Given the description of an element on the screen output the (x, y) to click on. 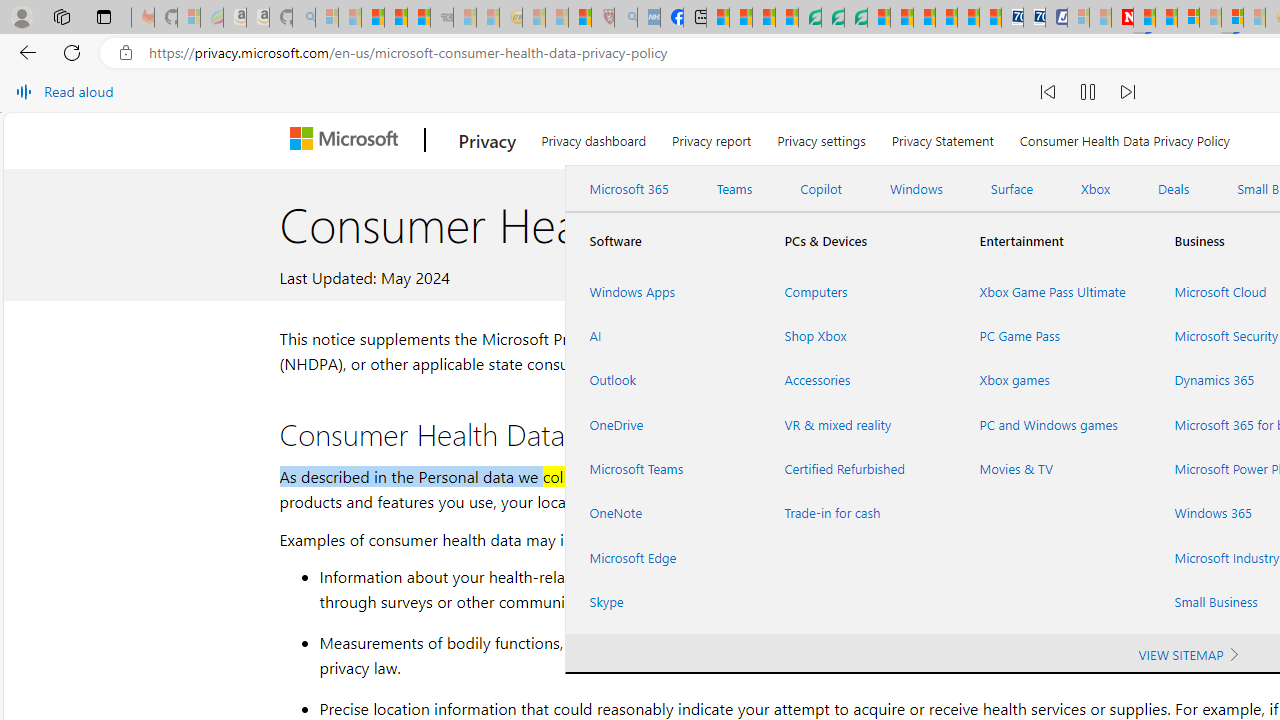
Computers (858, 291)
OneDrive (662, 424)
Copilot (820, 189)
Microsoft Edge (662, 557)
PC and Windows games (1052, 424)
PC Game Pass (1052, 336)
Copilot (820, 189)
Xbox games (1052, 380)
Computers (858, 291)
VR & mixed reality (858, 424)
Pause read aloud (Ctrl+Shift+U) (1087, 92)
